Given the description of an element on the screen output the (x, y) to click on. 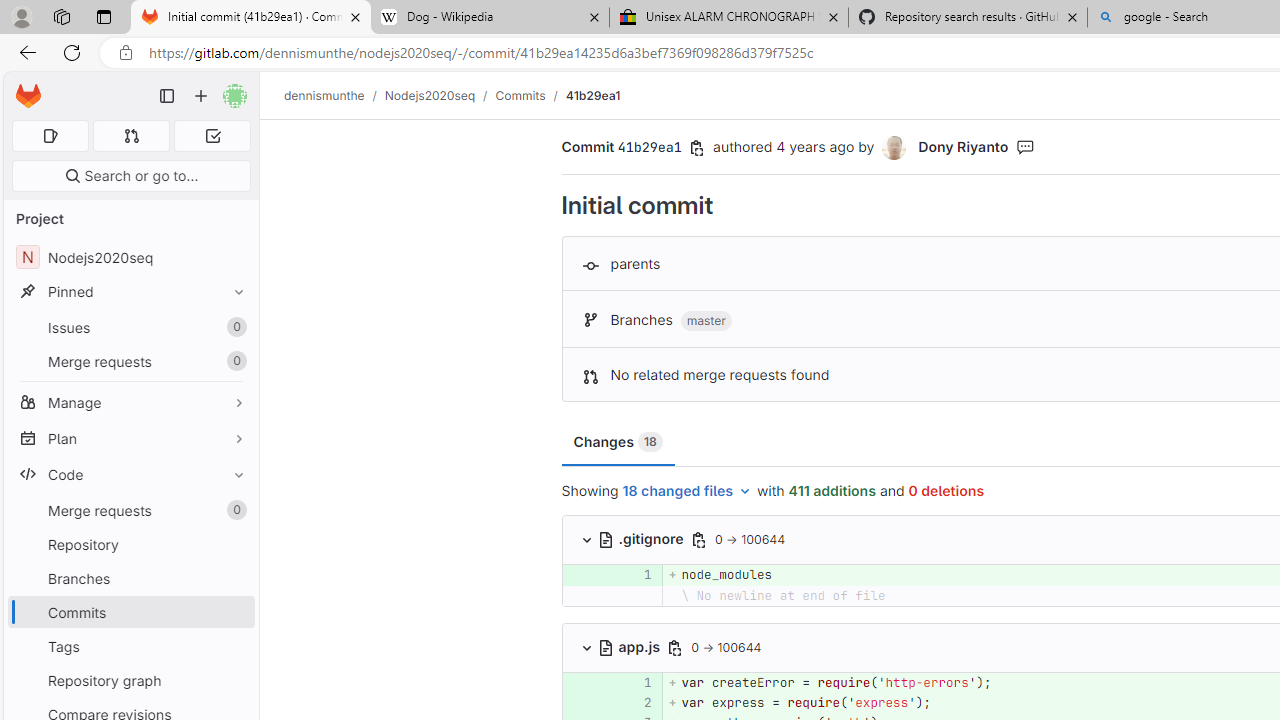
Repository (130, 543)
To-Do list 0 (212, 136)
Branches (130, 578)
Unpin Merge requests (234, 510)
Pinned (130, 291)
Personal Profile (21, 16)
Commits/ (530, 95)
Workspaces (61, 16)
Branches (130, 578)
Nodejs2020seq (430, 95)
dennismunthe (324, 95)
Nodejs2020seq/ (440, 95)
.gitignore  (642, 538)
